Given the description of an element on the screen output the (x, y) to click on. 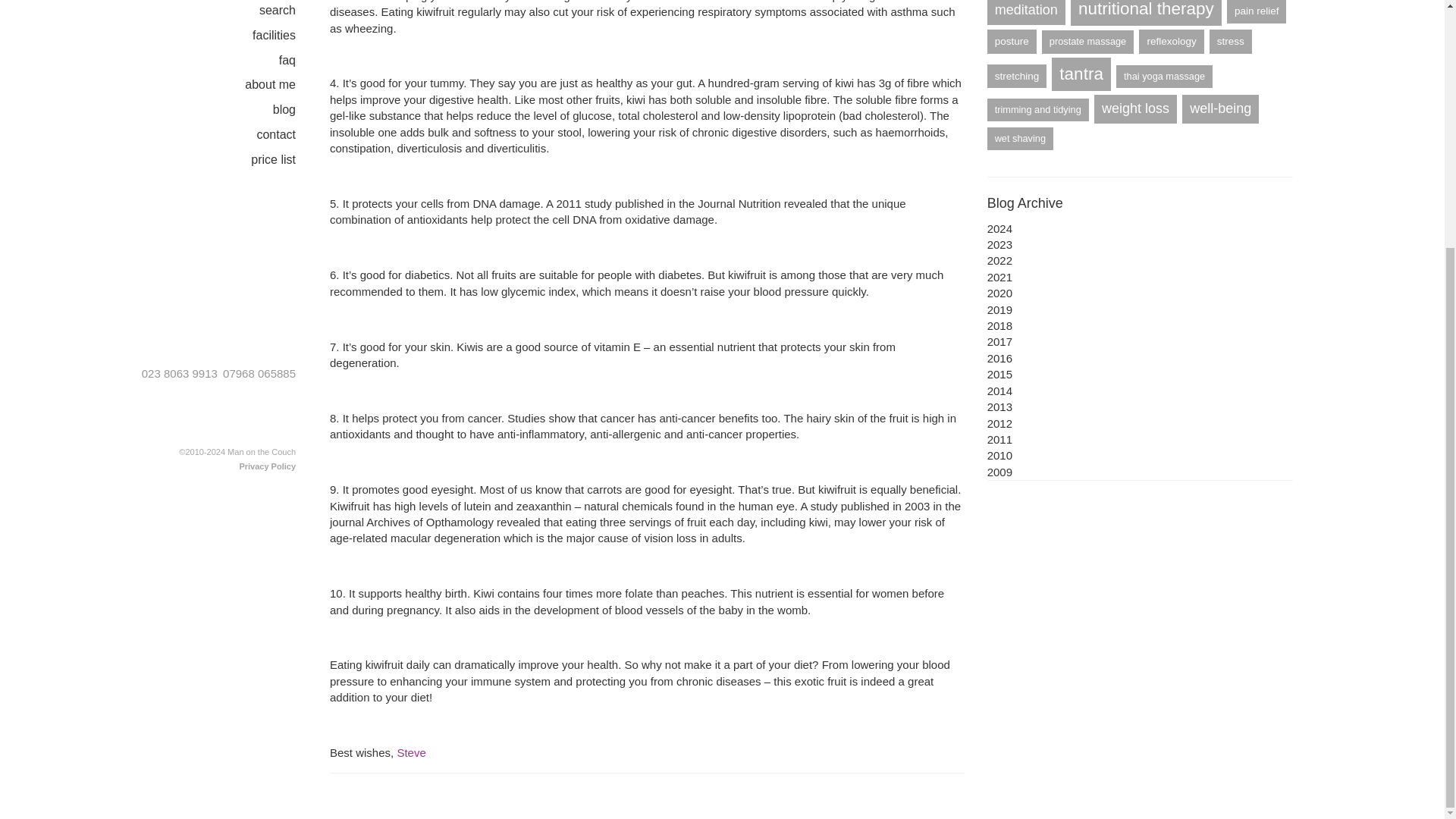
contact (287, 135)
search (288, 10)
blog (295, 109)
meditation (1026, 12)
Privacy Policy (266, 465)
facilities (284, 36)
faq (298, 60)
Steve (410, 752)
nutritional therapy (1145, 12)
price list (284, 159)
about me (281, 85)
